Given the description of an element on the screen output the (x, y) to click on. 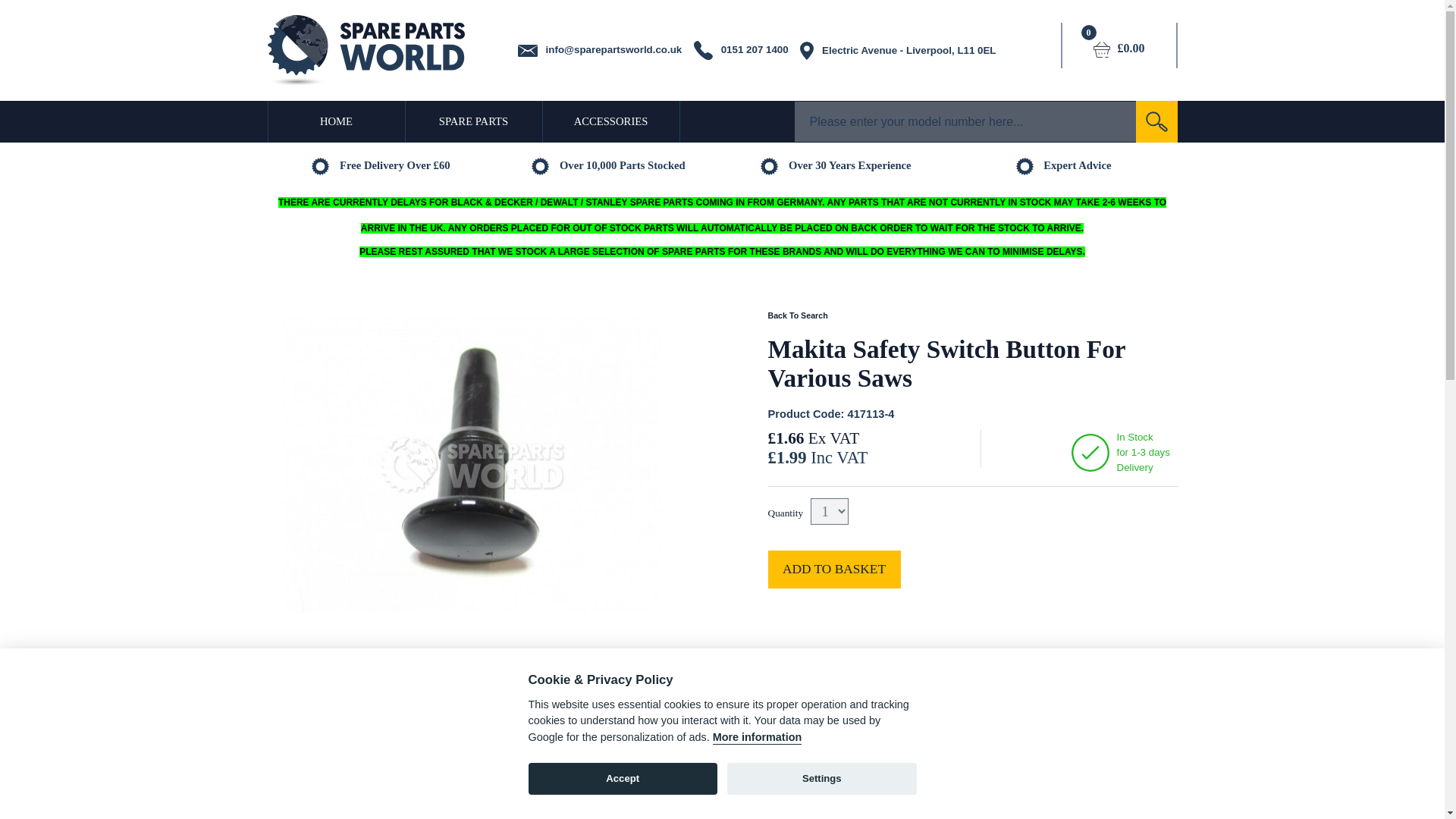
HOME (335, 121)
ACCESSORIES (611, 121)
  Electric Avenue - Liverpool, L11 0EL (898, 49)
Back To Search (797, 315)
  0151 207 1400 (742, 49)
Please enter your model number here... (964, 121)
SPARE PARTS (472, 121)
Please enter your model number here... (964, 121)
